Given the description of an element on the screen output the (x, y) to click on. 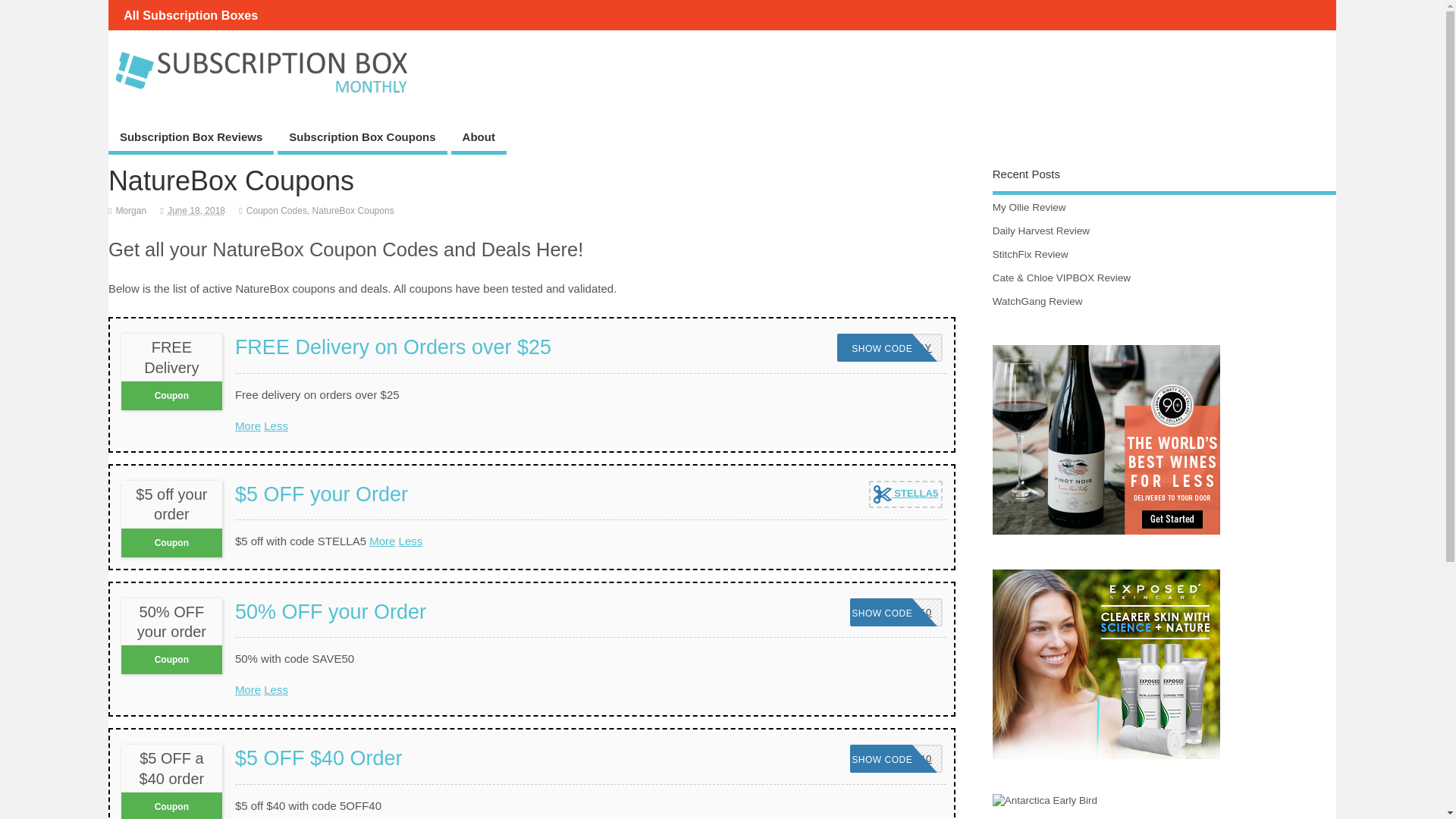
More (247, 689)
Click To Copy Coupon (905, 493)
STELLA5 (905, 493)
Posts by Morgan (131, 210)
Coupon Codes (276, 210)
NatureBox Coupons (353, 210)
All Subscription Boxes (190, 15)
My Ollie Review (1028, 206)
Click Here to Show Code (896, 612)
More (896, 612)
About (247, 425)
Subscription Box Reviews (478, 138)
Click Here to Show Code (190, 138)
